Given the description of an element on the screen output the (x, y) to click on. 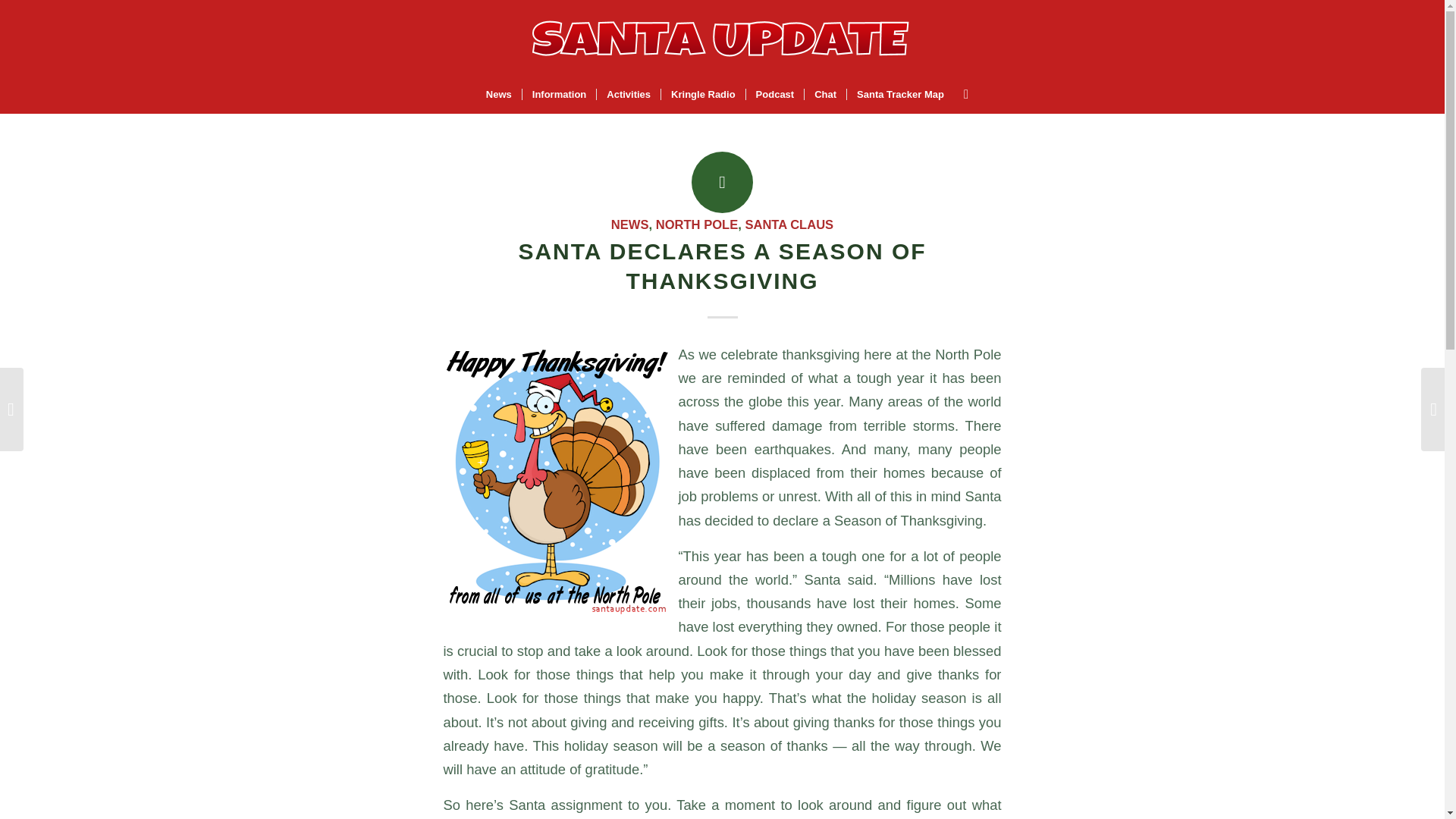
NORTH POLE (697, 224)
Santa Tracker Map (899, 94)
Kringle Radio (703, 94)
newlogo23f (722, 38)
News (498, 94)
Information (558, 94)
NEWS (630, 224)
Podcast (775, 94)
Chat (824, 94)
Activities (628, 94)
SANTA CLAUS (788, 224)
